Given the description of an element on the screen output the (x, y) to click on. 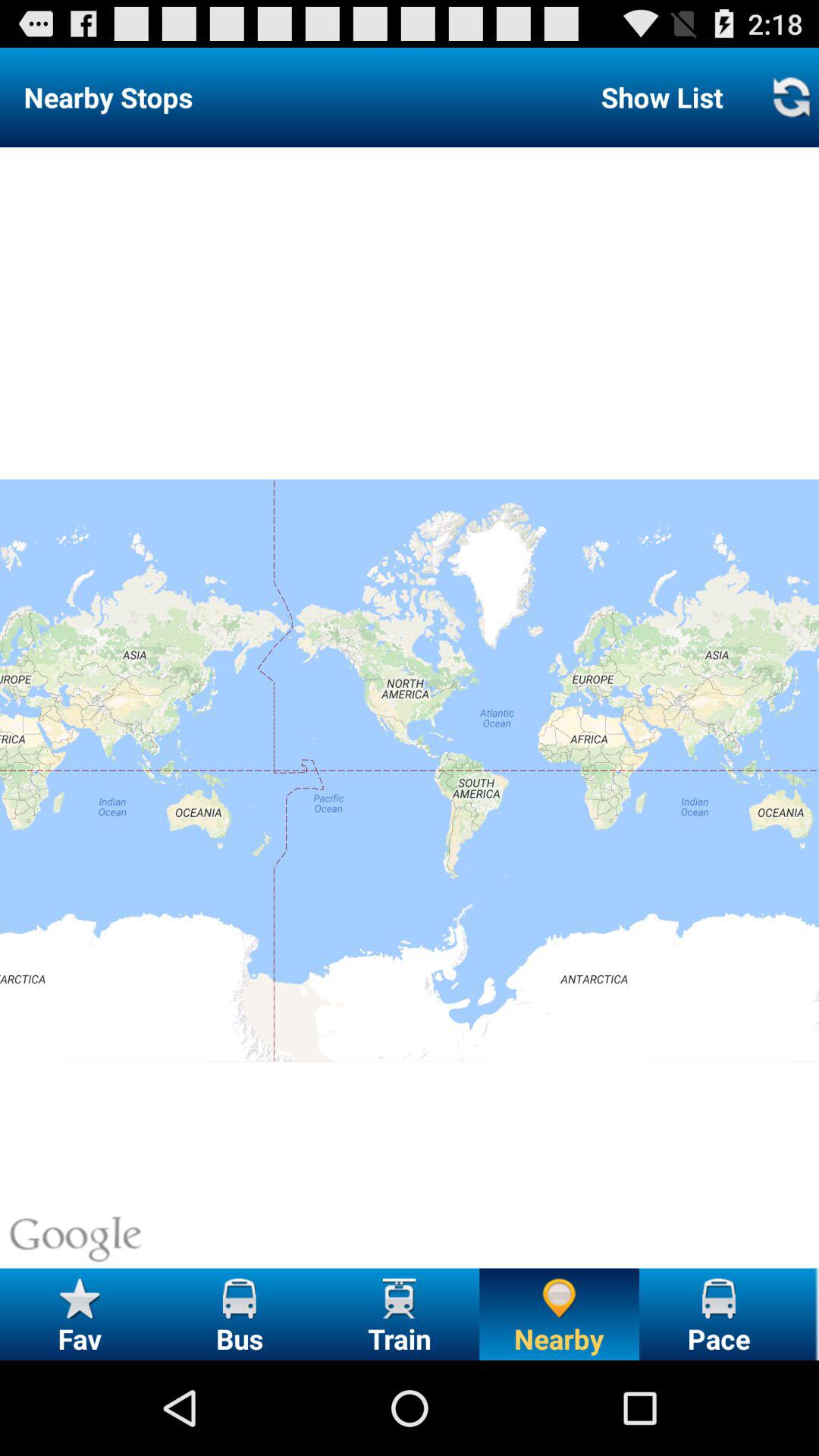
press item below the show list item (409, 707)
